Given the description of an element on the screen output the (x, y) to click on. 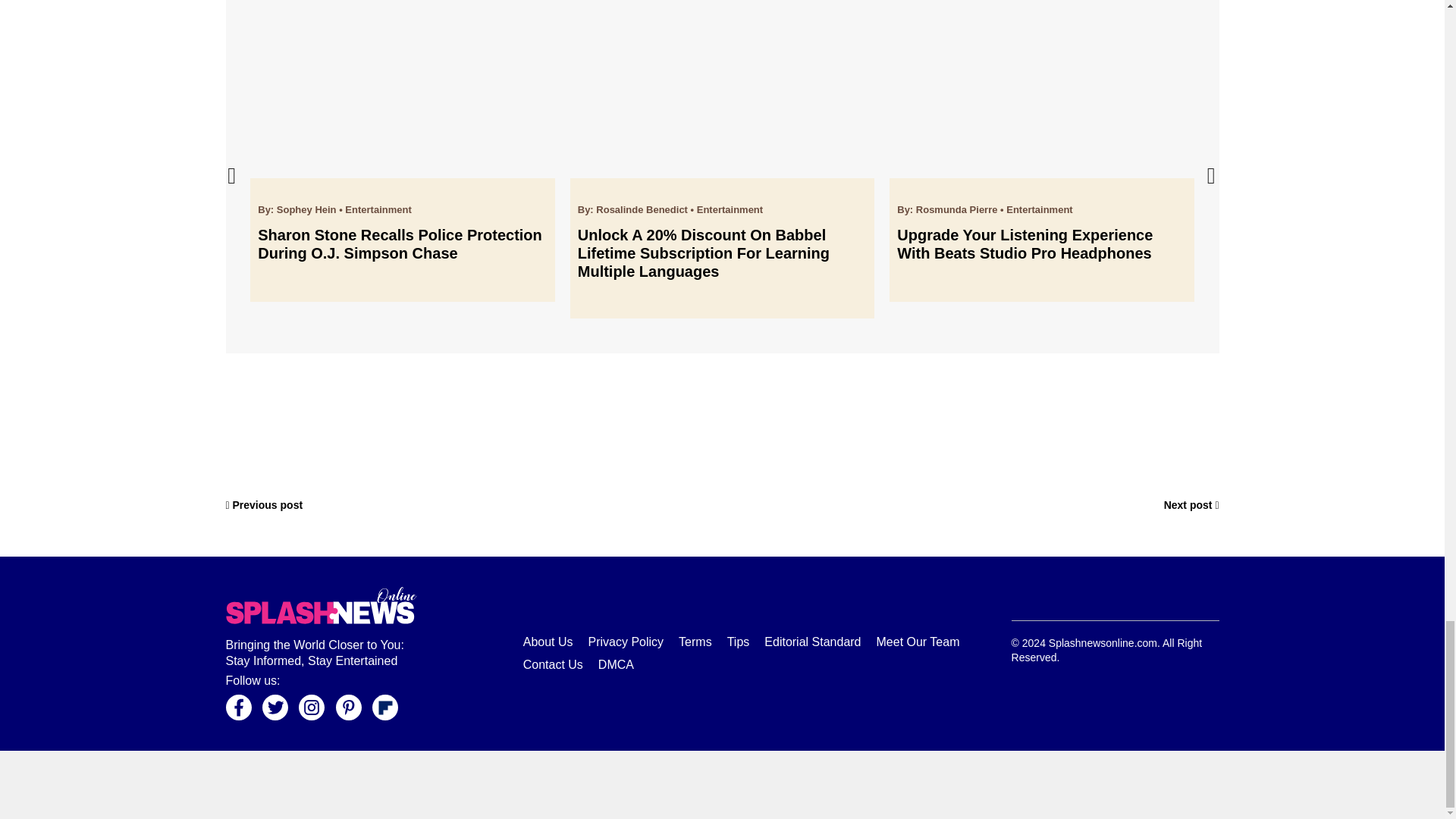
Splashnewsonline (320, 605)
